Given the description of an element on the screen output the (x, y) to click on. 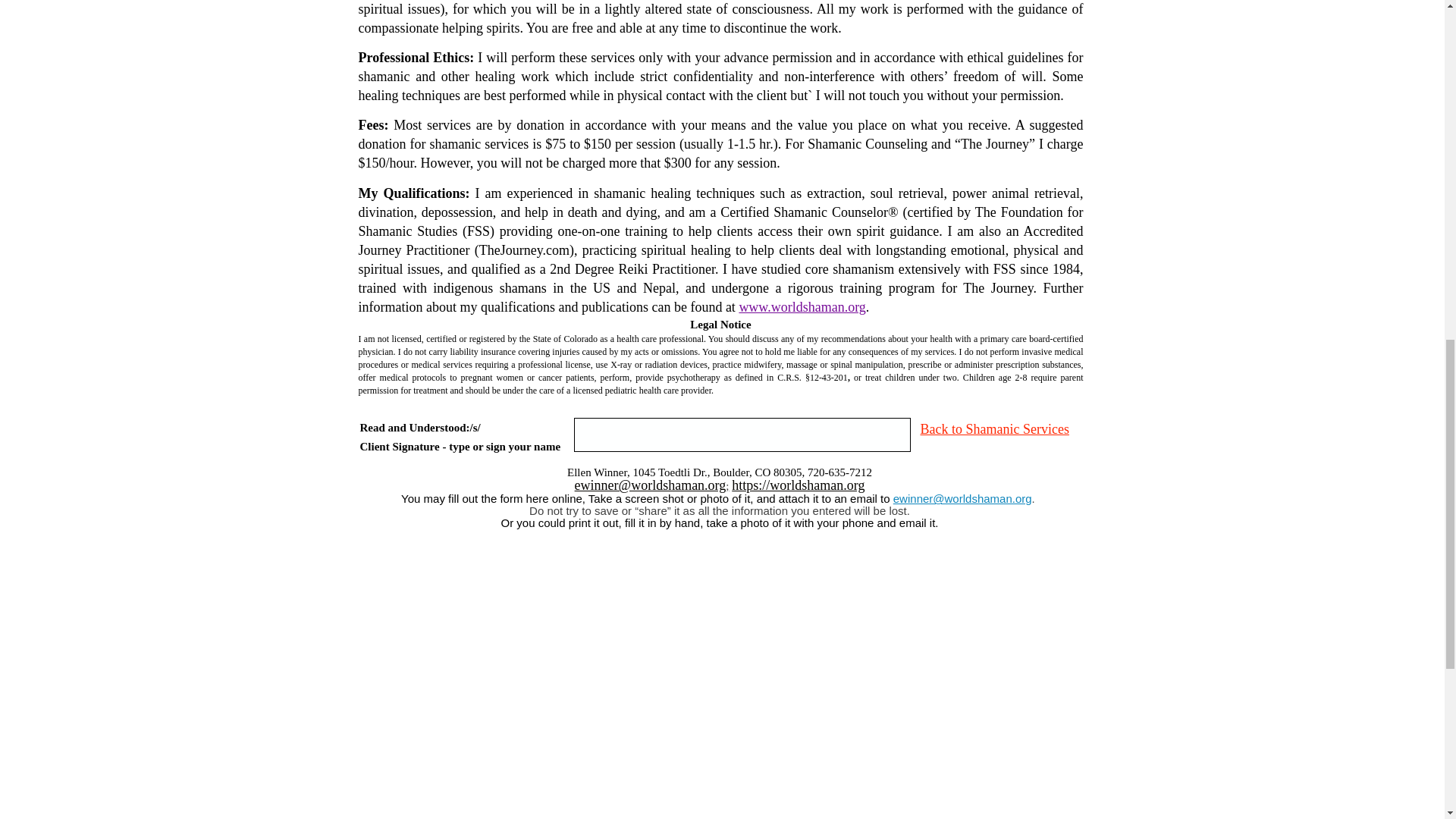
www.worldshaman.org (801, 306)
Back to Shamanic Services (994, 428)
